Given the description of an element on the screen output the (x, y) to click on. 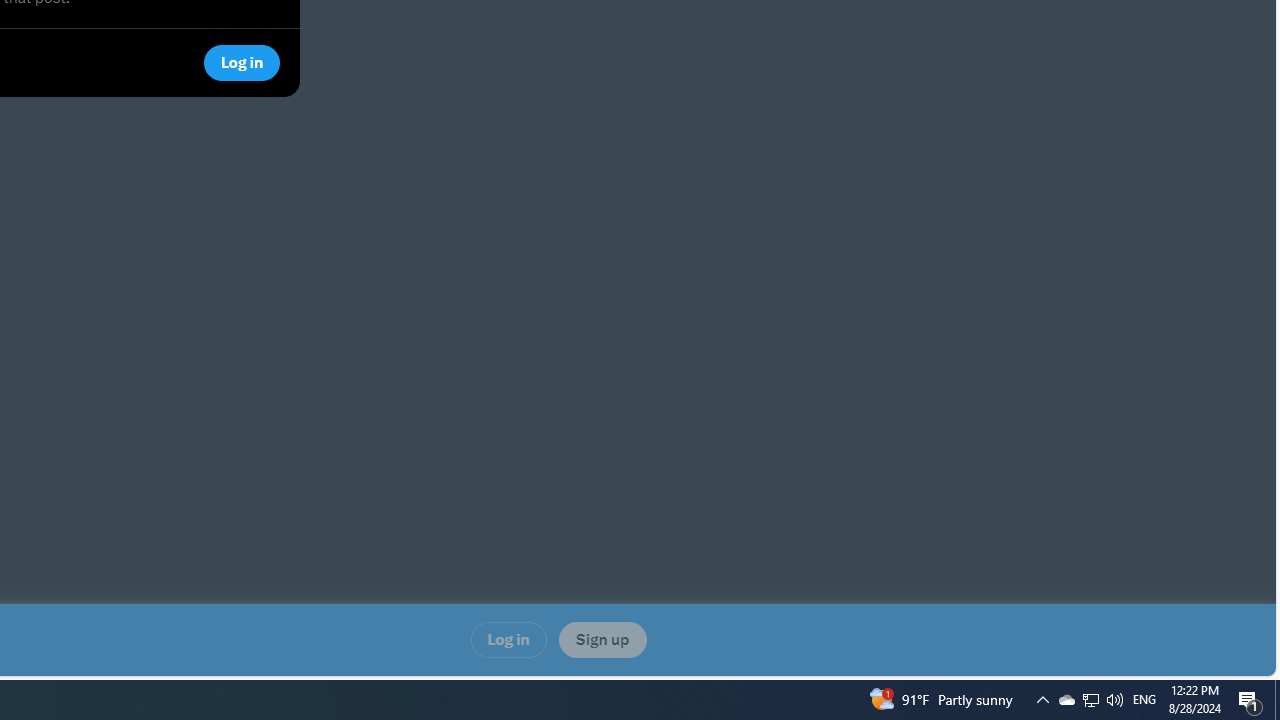
Log in (507, 640)
Sign up (602, 640)
